Given the description of an element on the screen output the (x, y) to click on. 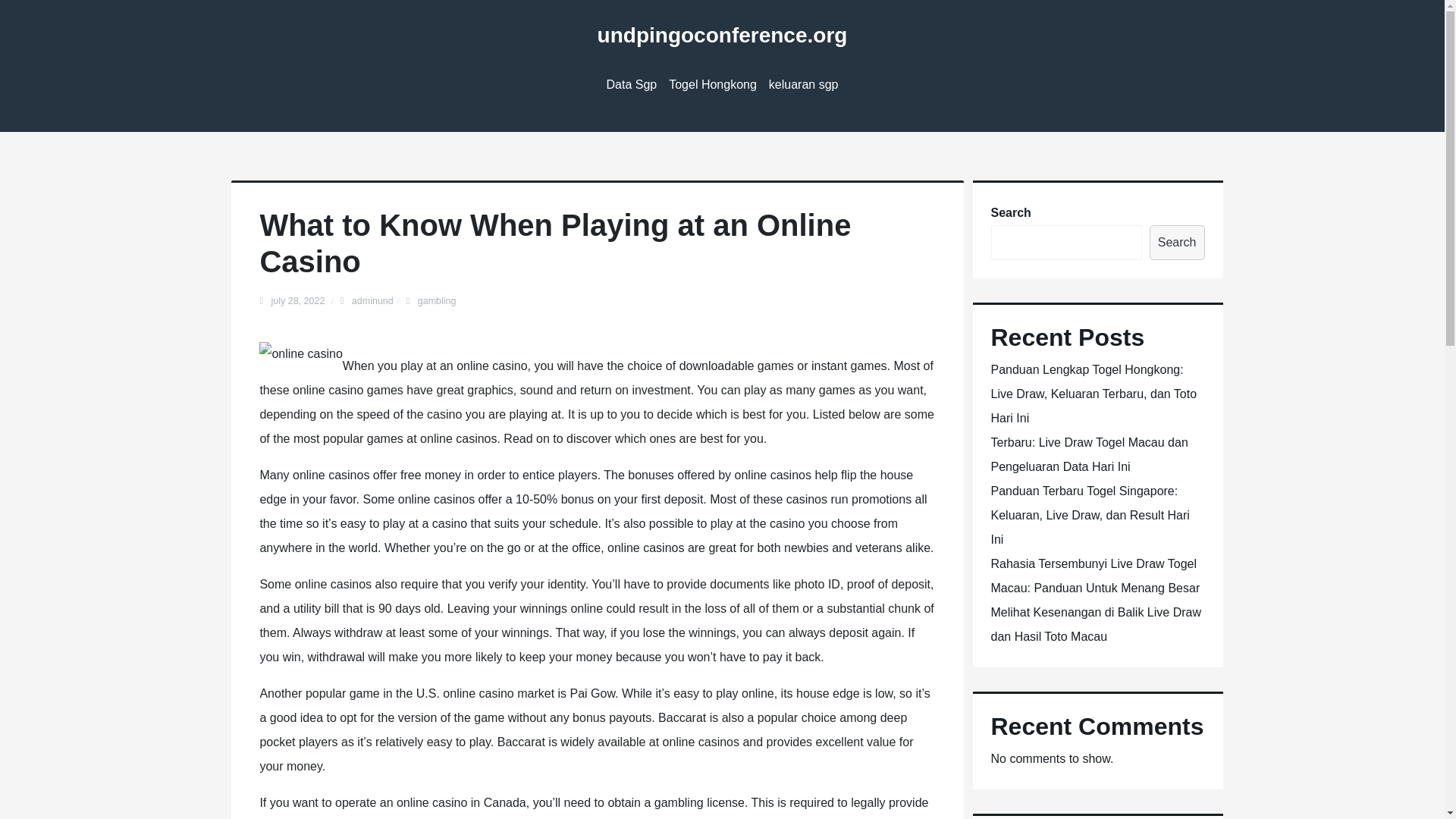
july 28, 2022 (298, 300)
Data Sgp (631, 84)
keluaran sgp (803, 84)
gambling (437, 300)
Togel Hongkong (712, 84)
undpingoconference.org (721, 34)
Terbaru: Live Draw Togel Macau dan Pengeluaran Data Hari Ini (1089, 454)
Melihat Kesenangan di Balik Live Draw dan Hasil Toto Macau (1094, 624)
Search (1177, 242)
adminund (372, 300)
Data Sgp (631, 84)
Togel Hongkong (712, 84)
